Given the description of an element on the screen output the (x, y) to click on. 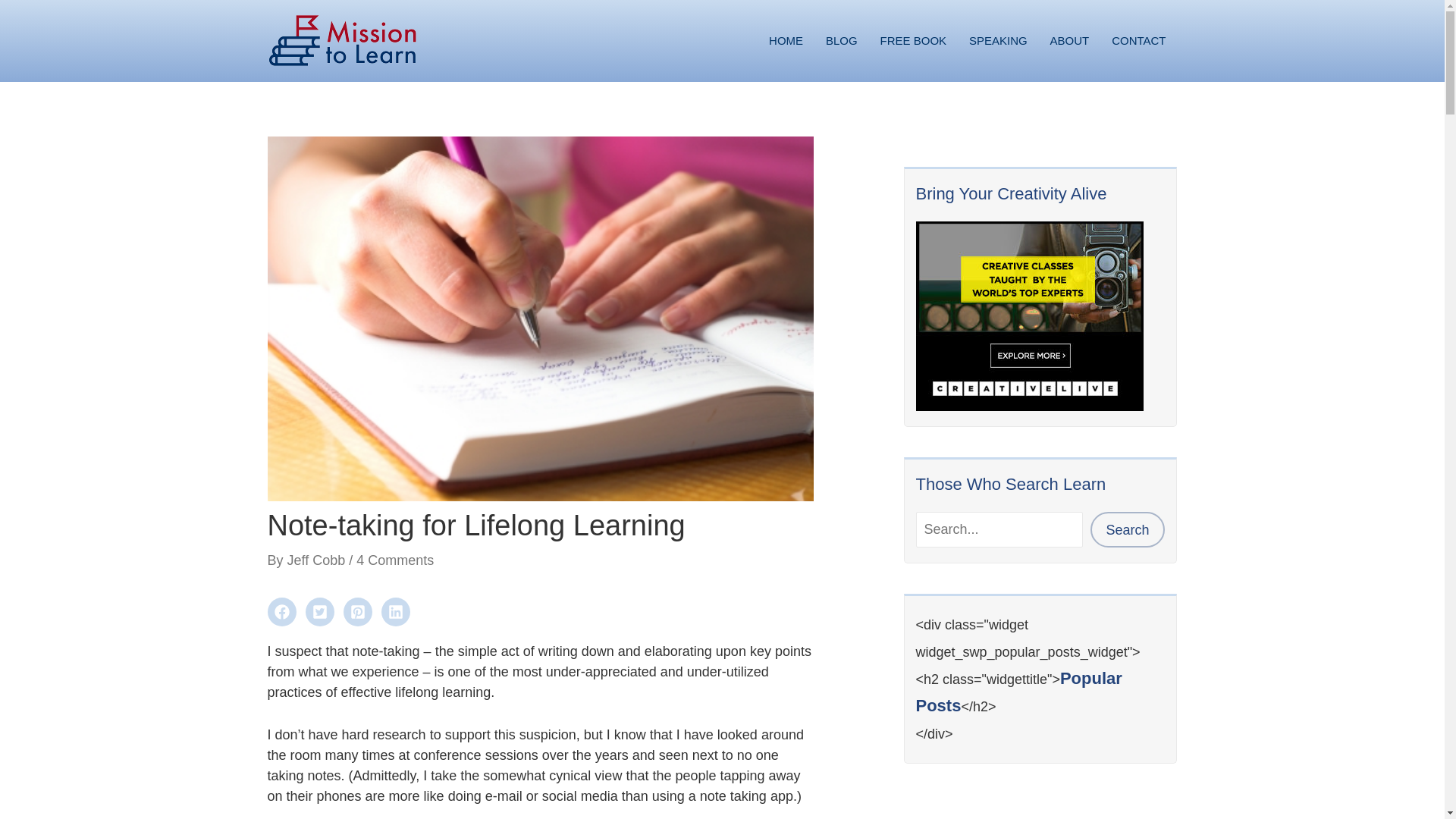
View all posts by Jeff Cobb (317, 560)
ABOUT (1069, 40)
Jeff Cobb (317, 560)
BLOG (841, 40)
HOME (785, 40)
FREE BOOK (913, 40)
SPEAKING (998, 40)
CONTACT (1138, 40)
4 Comments (394, 560)
